Given the description of an element on the screen output the (x, y) to click on. 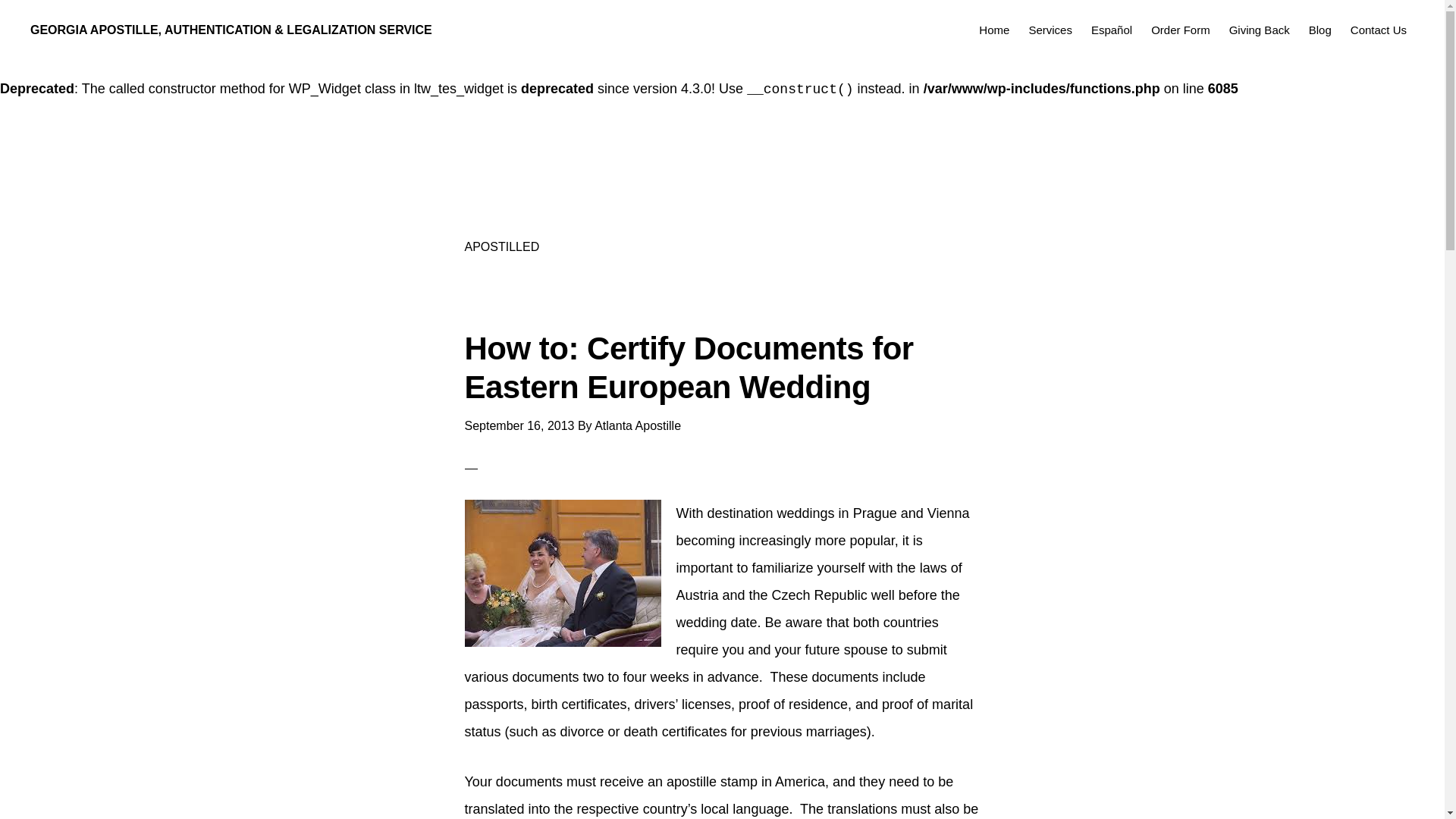
Atlanta Apostille (240, 596)
Services (1050, 29)
Order Form (1179, 29)
Current Apostille News (1320, 29)
Giving Back (1259, 29)
Home (993, 29)
Contact Us (1377, 29)
How to: Certify Documents for Eastern European Wedding (688, 367)
Atlanta-based Apostille Service (993, 29)
